Given the description of an element on the screen output the (x, y) to click on. 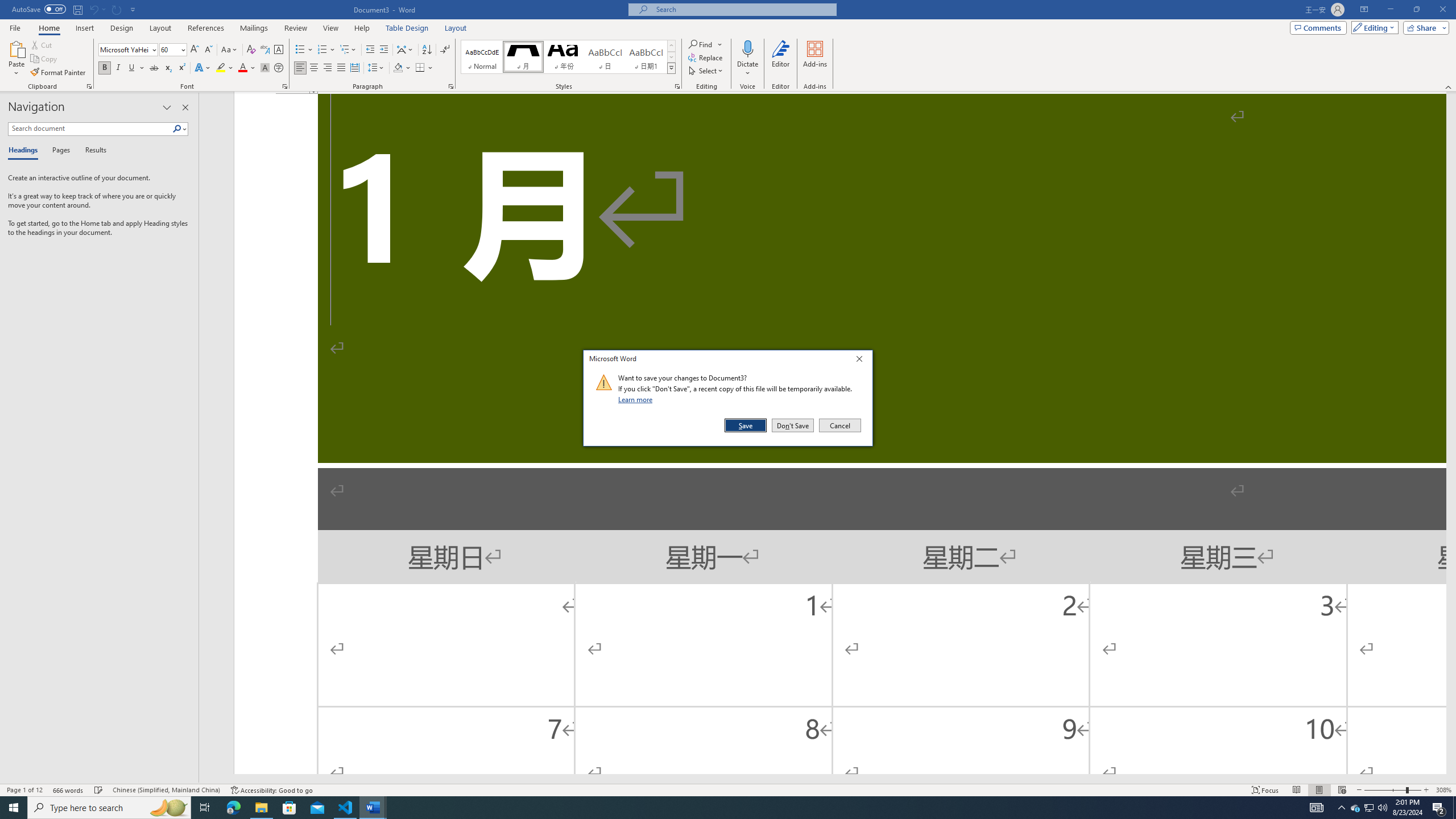
Numbering (322, 49)
Read Mode (1296, 790)
Insert (83, 28)
Microsoft Edge (233, 807)
Character Border (278, 49)
Numbering (326, 49)
Cut (42, 44)
Enclose Characters... (278, 67)
Multilevel List (347, 49)
Select (705, 69)
Review (295, 28)
Text Effects and Typography (202, 67)
Close pane (185, 107)
Task Pane Options (167, 107)
Accessibility Checker Accessibility: Good to go (271, 790)
